Given the description of an element on the screen output the (x, y) to click on. 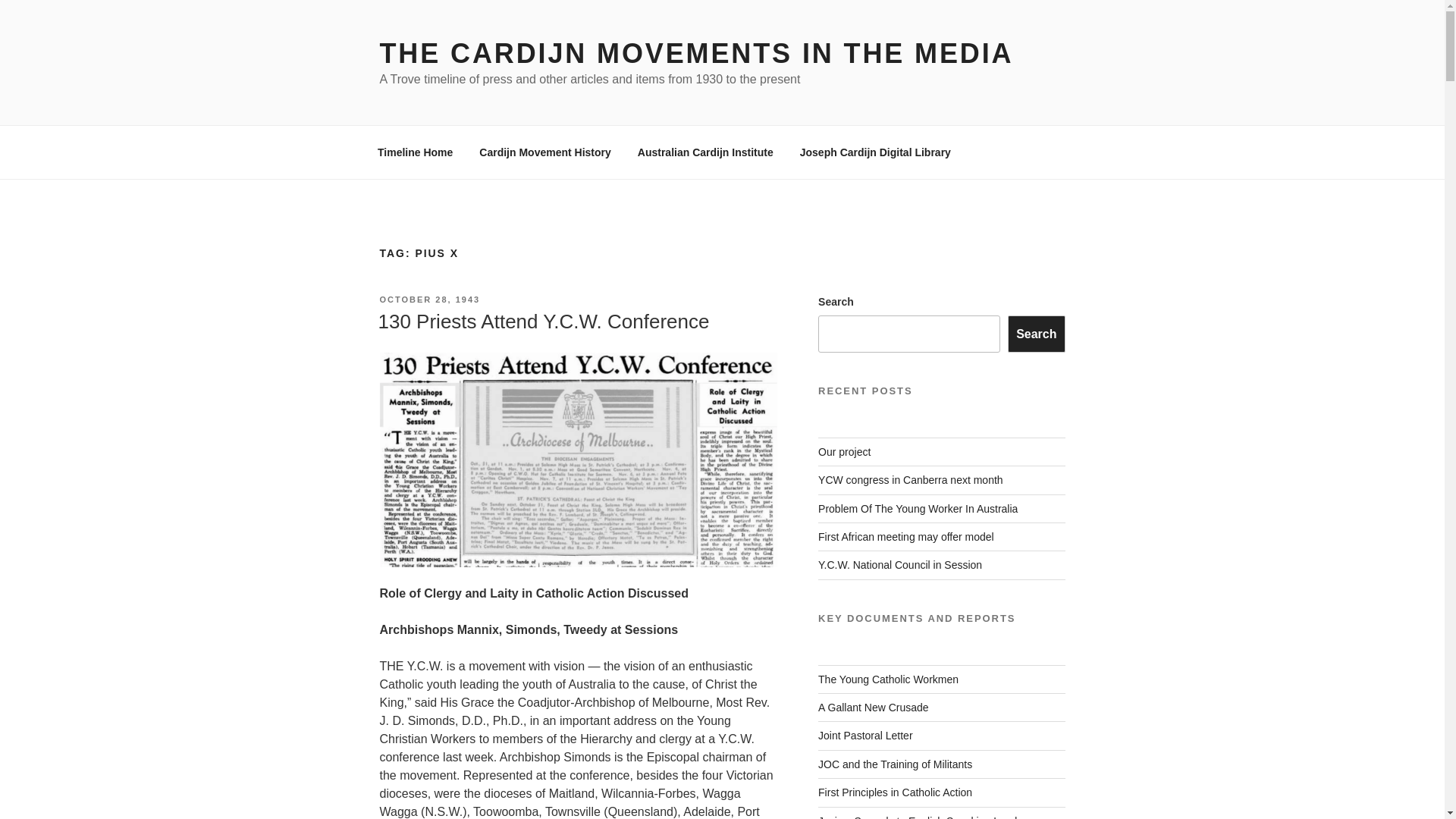
Timeline Home (414, 151)
THE CARDIJN MOVEMENTS IN THE MEDIA (695, 52)
Search (1035, 333)
Australian Cardijn Institute (705, 151)
Joseph Cardijn Digital Library (874, 151)
Problem Of The Young Worker In Australia (917, 508)
YCW congress in Canberra next month (910, 480)
Y.C.W. National Council in Session (899, 564)
First African meeting may offer model (906, 536)
Our project (844, 451)
JOC and the Training of Militants (895, 764)
OCTOBER 28, 1943 (429, 298)
Joint Pastoral Letter (865, 735)
First Principles in Catholic Action (895, 792)
The Young Catholic Workmen (888, 679)
